Given the description of an element on the screen output the (x, y) to click on. 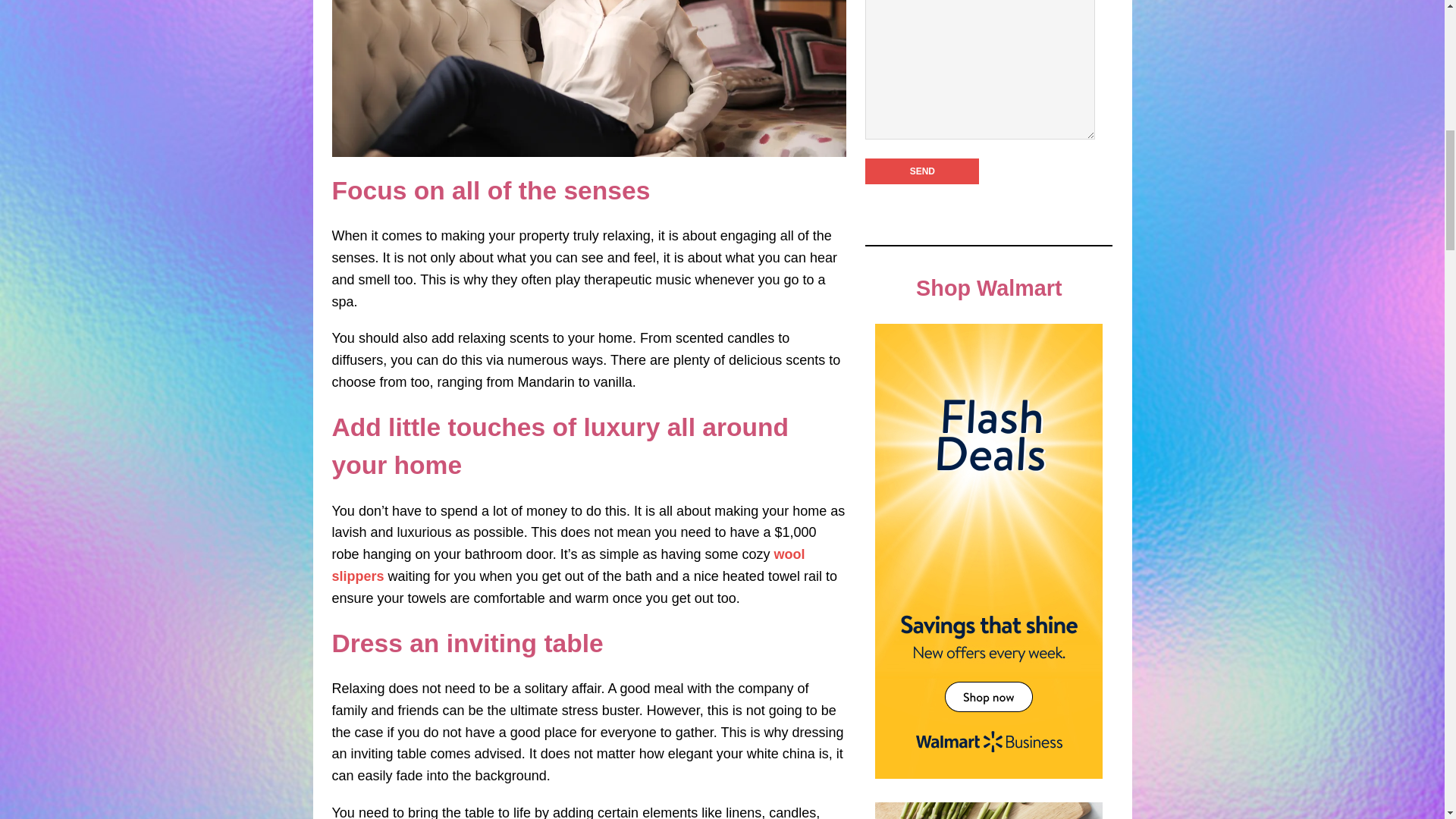
Send (921, 171)
